Given the description of an element on the screen output the (x, y) to click on. 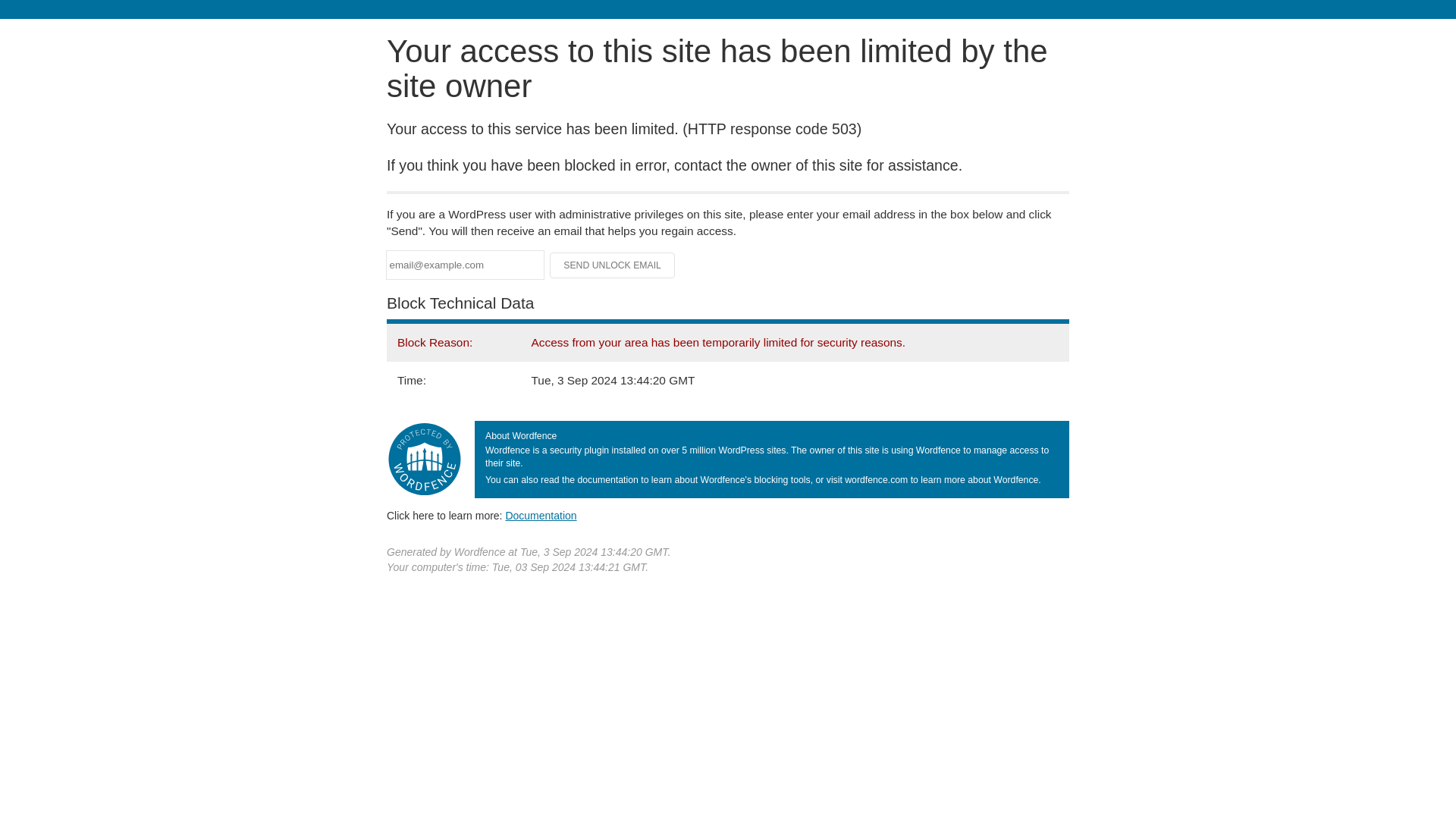
Send Unlock Email (612, 265)
Send Unlock Email (612, 265)
Documentation (540, 515)
